Given the description of an element on the screen output the (x, y) to click on. 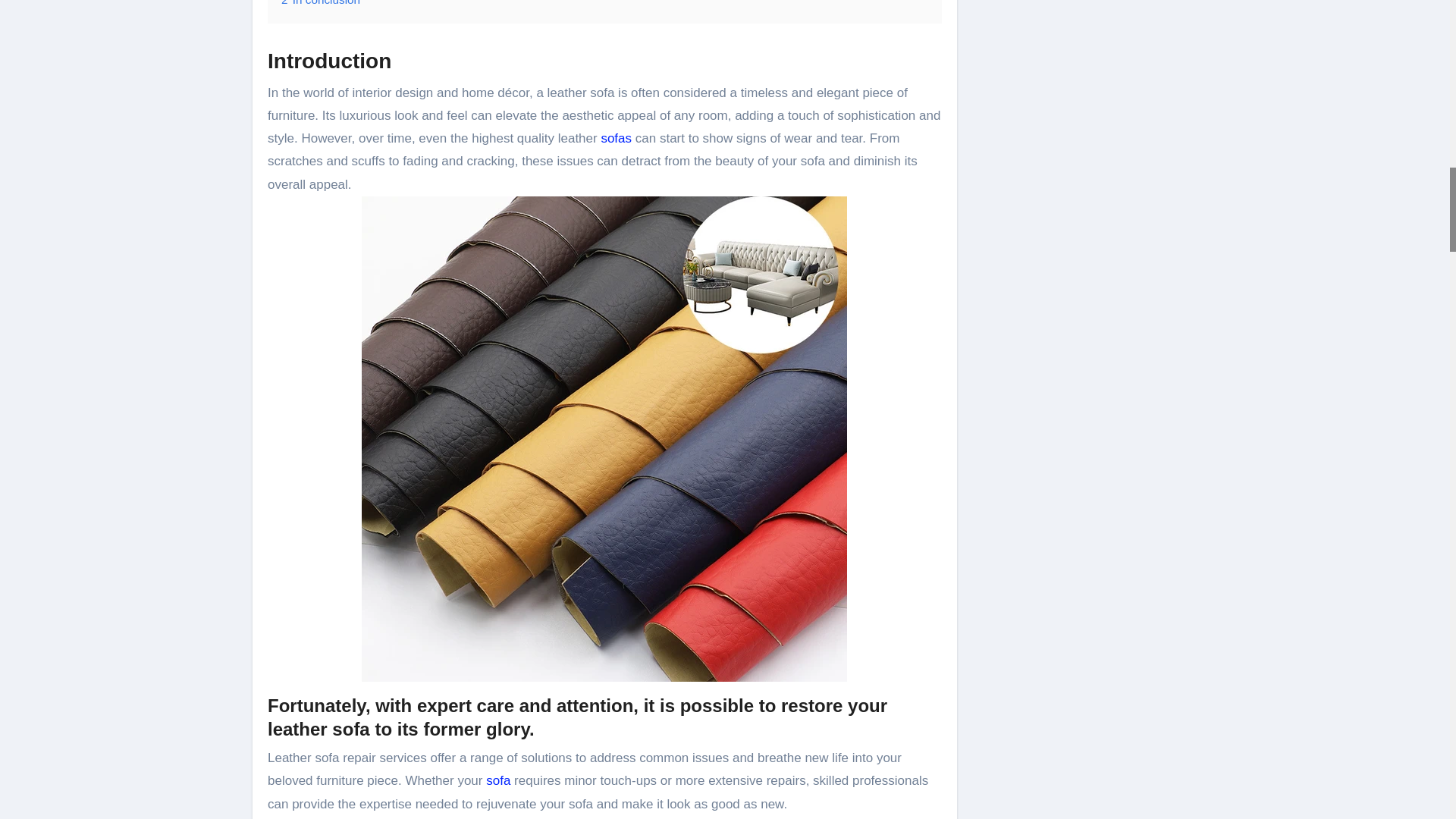
sofa (498, 780)
2 In conclusion (320, 2)
sofas (615, 138)
